Given the description of an element on the screen output the (x, y) to click on. 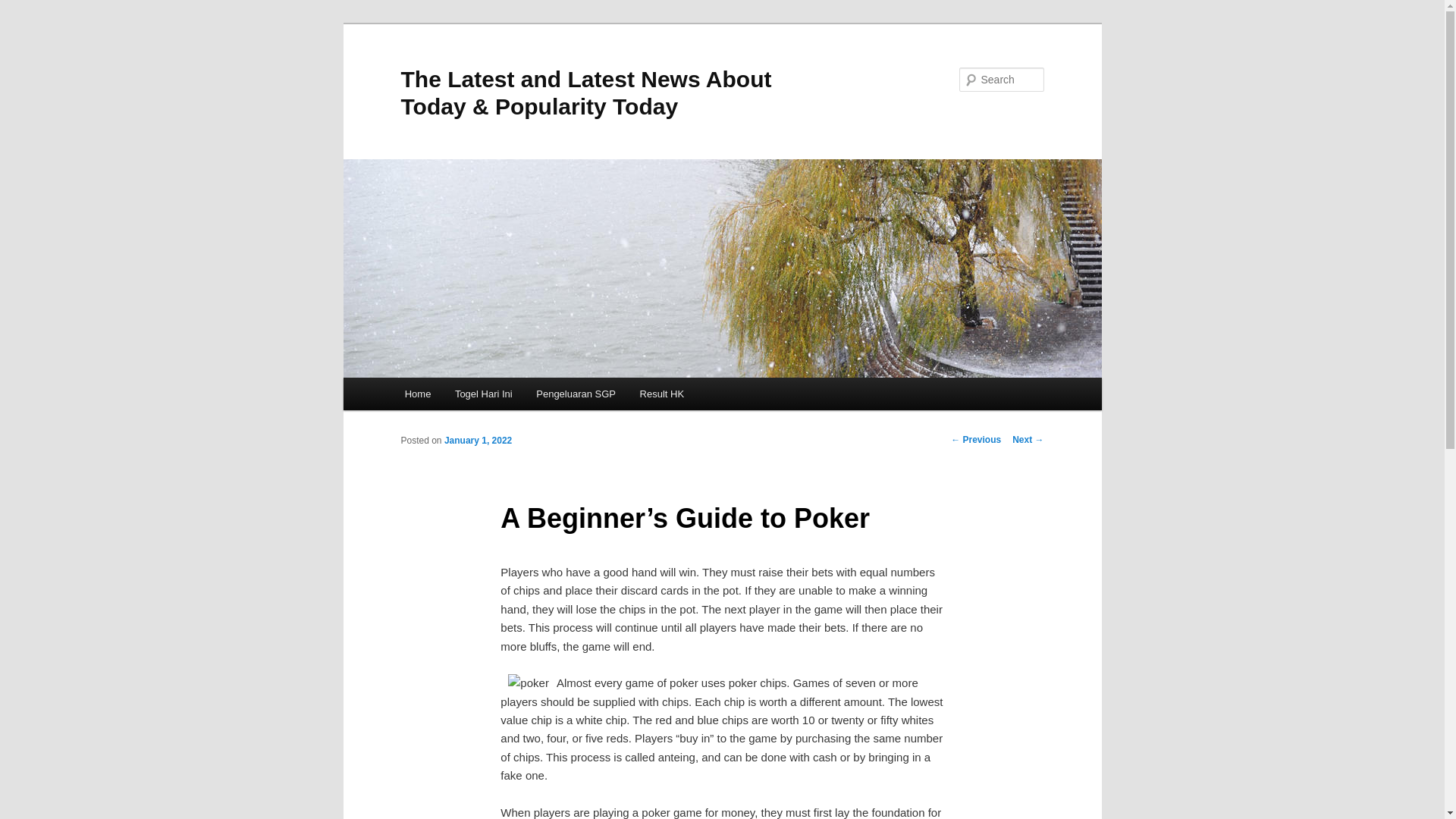
Search (24, 8)
Pengeluaran SGP (575, 393)
Home (417, 393)
January 1, 2022 (478, 439)
Result HK (661, 393)
8:43 pm (478, 439)
Togel Hari Ini (483, 393)
